Given the description of an element on the screen output the (x, y) to click on. 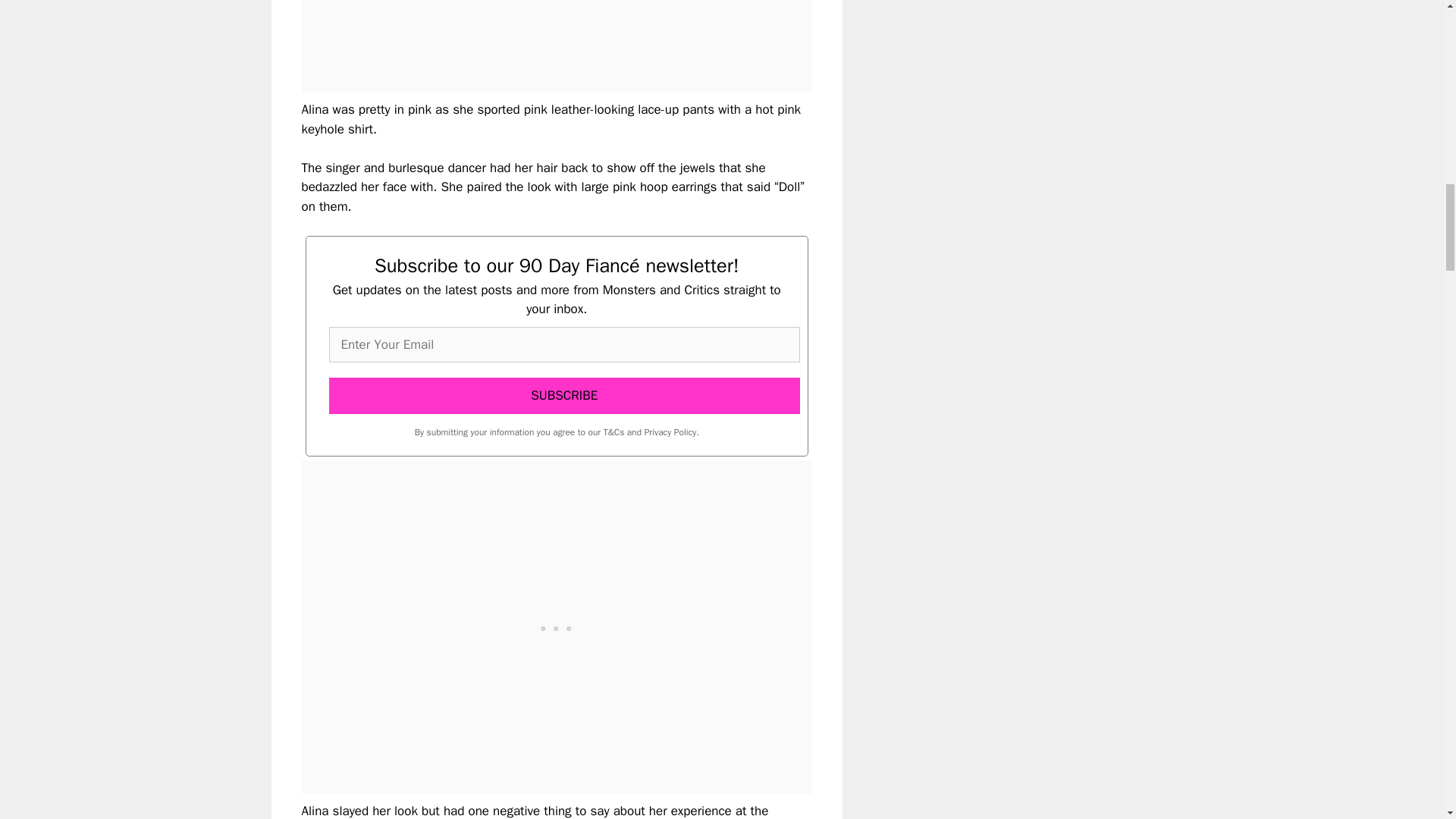
SUBSCRIBE (564, 395)
SUBSCRIBE (564, 395)
